Given the description of an element on the screen output the (x, y) to click on. 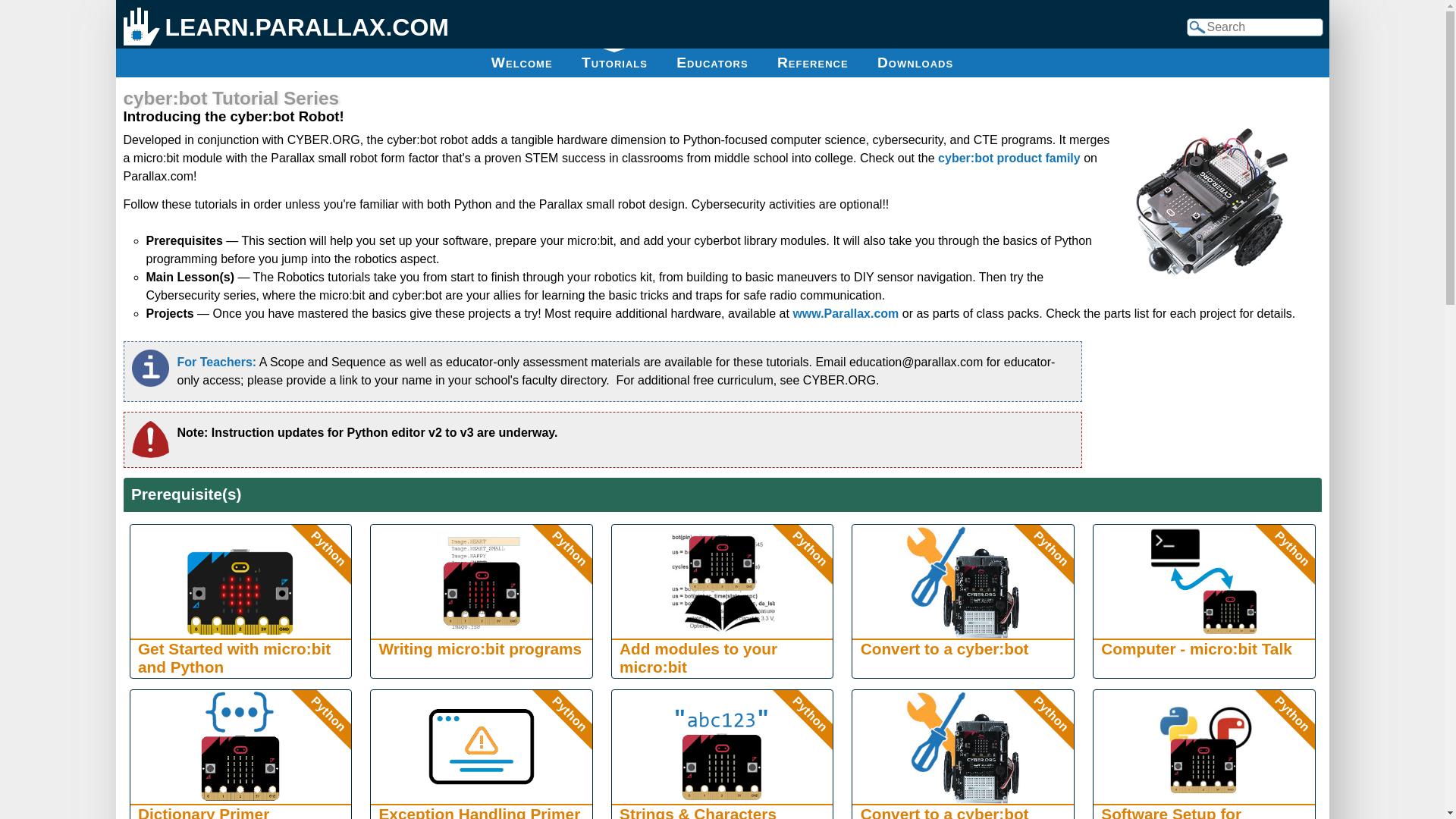
Home (141, 26)
Computer - micro:bit Talk (1203, 581)
Add modules to your micro:bit (721, 581)
Exception Handling Primer (481, 746)
cyber:bot product family (1008, 157)
Home (307, 26)
Convert to a cyber:bot (962, 581)
Writing micro:bit programs (481, 581)
Downloads (915, 62)
Search (1196, 76)
Tutorials (614, 62)
Get Started with micro:bit and Python (240, 581)
Search (1196, 76)
Software Setup for micro:bit (1203, 746)
LEARN.PARALLAX.COM (307, 26)
